Given the description of an element on the screen output the (x, y) to click on. 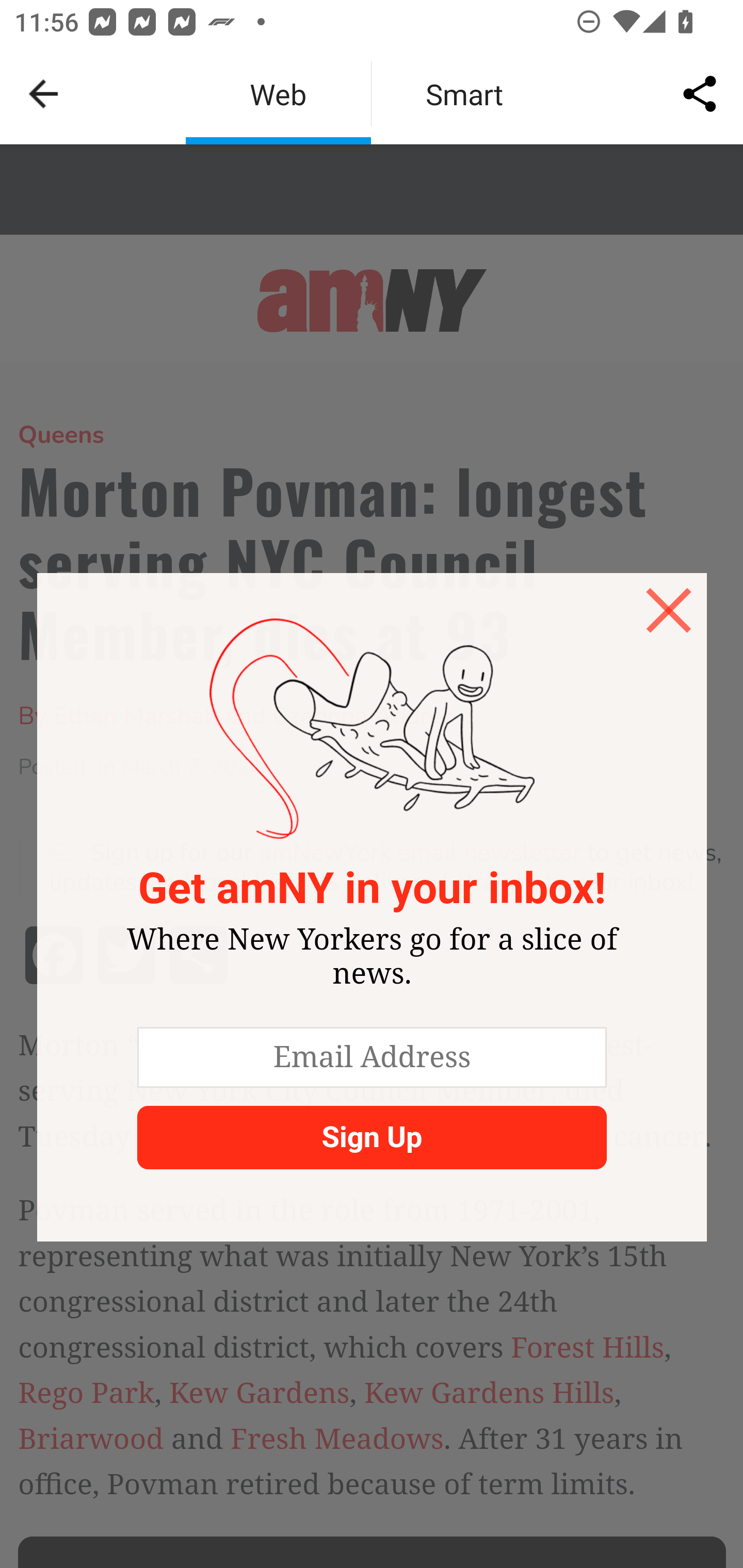
Web (277, 93)
Smart (464, 93)
Sign Up (371, 1137)
